Given the description of an element on the screen output the (x, y) to click on. 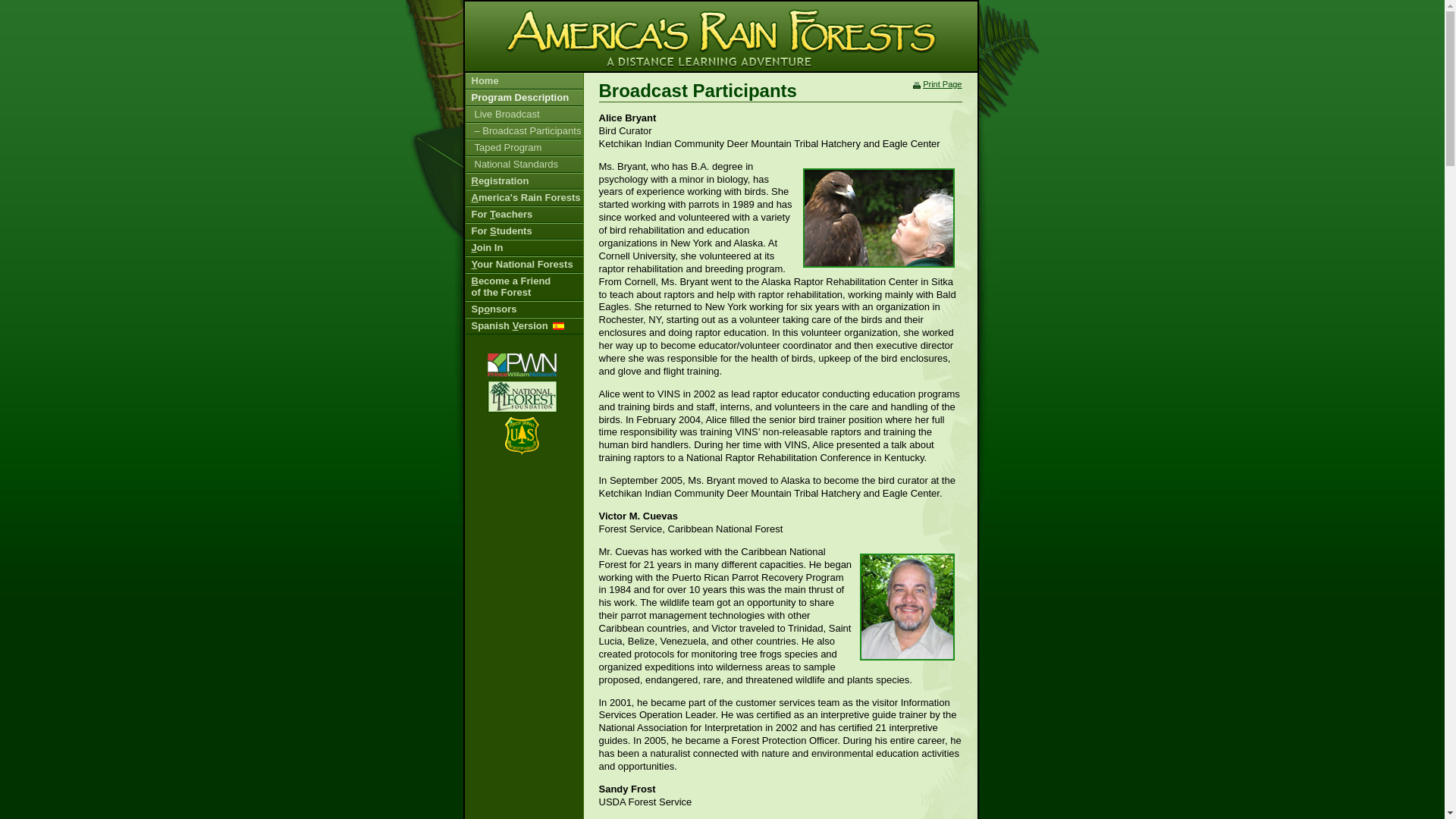
Spanish Version (524, 325)
Join In (524, 247)
Live Broadcast (524, 114)
Your National Forests (524, 264)
Program Description (524, 97)
Print Page (941, 83)
Taped Program (524, 147)
National Standards (524, 286)
For Teachers (524, 164)
Registration (524, 214)
Home (524, 180)
For Students (524, 80)
Sponsors (524, 230)
America's Rain Forests (524, 309)
